Given the description of an element on the screen output the (x, y) to click on. 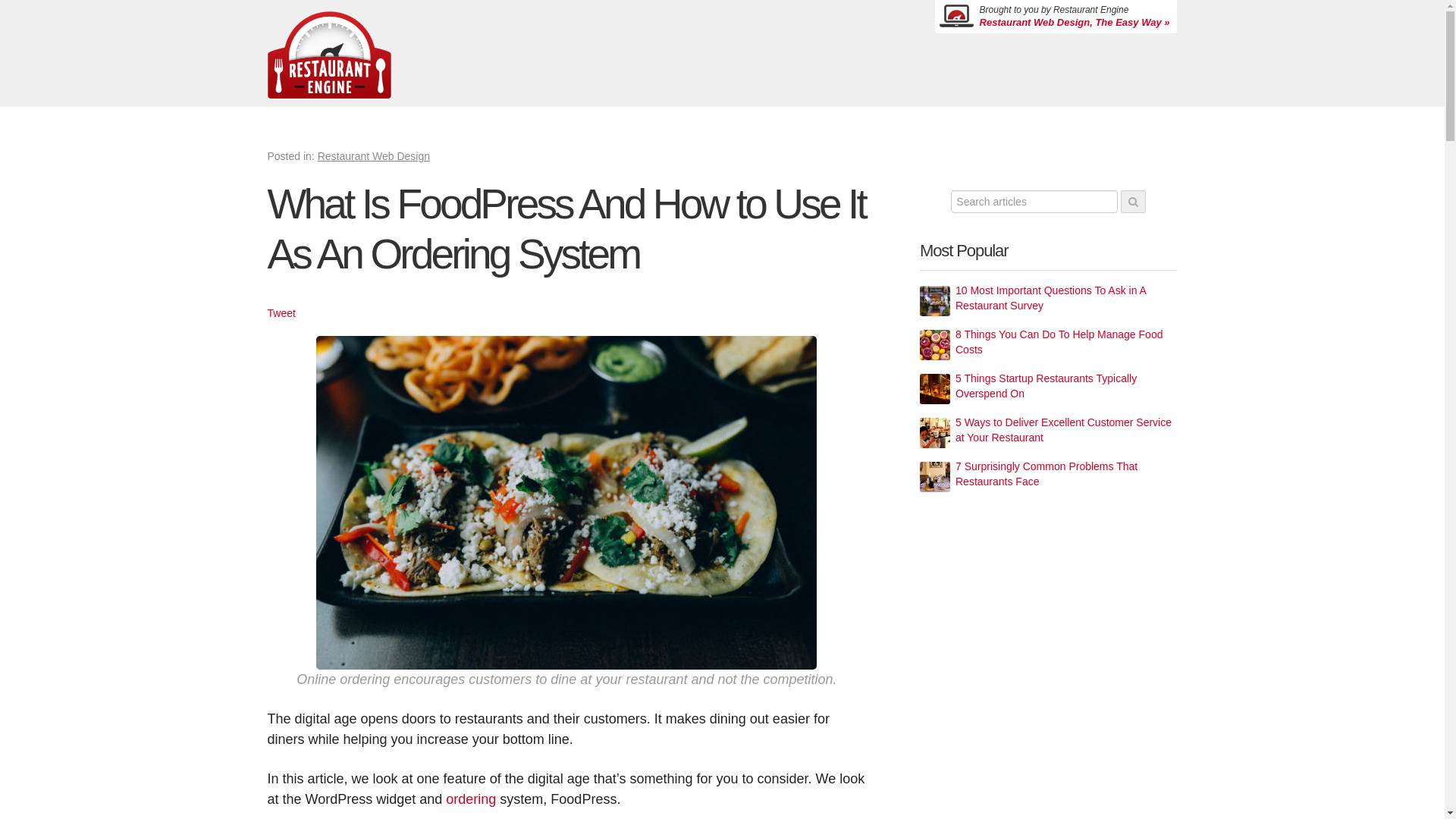
Tweet (280, 313)
10 Most Important Questions To Ask in A Restaurant Survey (1065, 298)
8 Things You Can Do To Help Manage Food Costs (1065, 342)
10 Most Important Questions To Ask in A Restaurant Survey (1065, 298)
Restaurant Engine (328, 54)
7 Surprisingly Common Problems That Restaurants Face (1065, 474)
5 Things Startup Restaurants Typically Overspend On (1065, 386)
ordering (470, 798)
8 Things You Can Do To Help Manage Food Costs (1065, 342)
5 Things Startup Restaurants Typically Overspend On (1065, 386)
Restaurant Web Design (1074, 22)
Search (1133, 201)
Restaurant Web Design (373, 155)
